Given the description of an element on the screen output the (x, y) to click on. 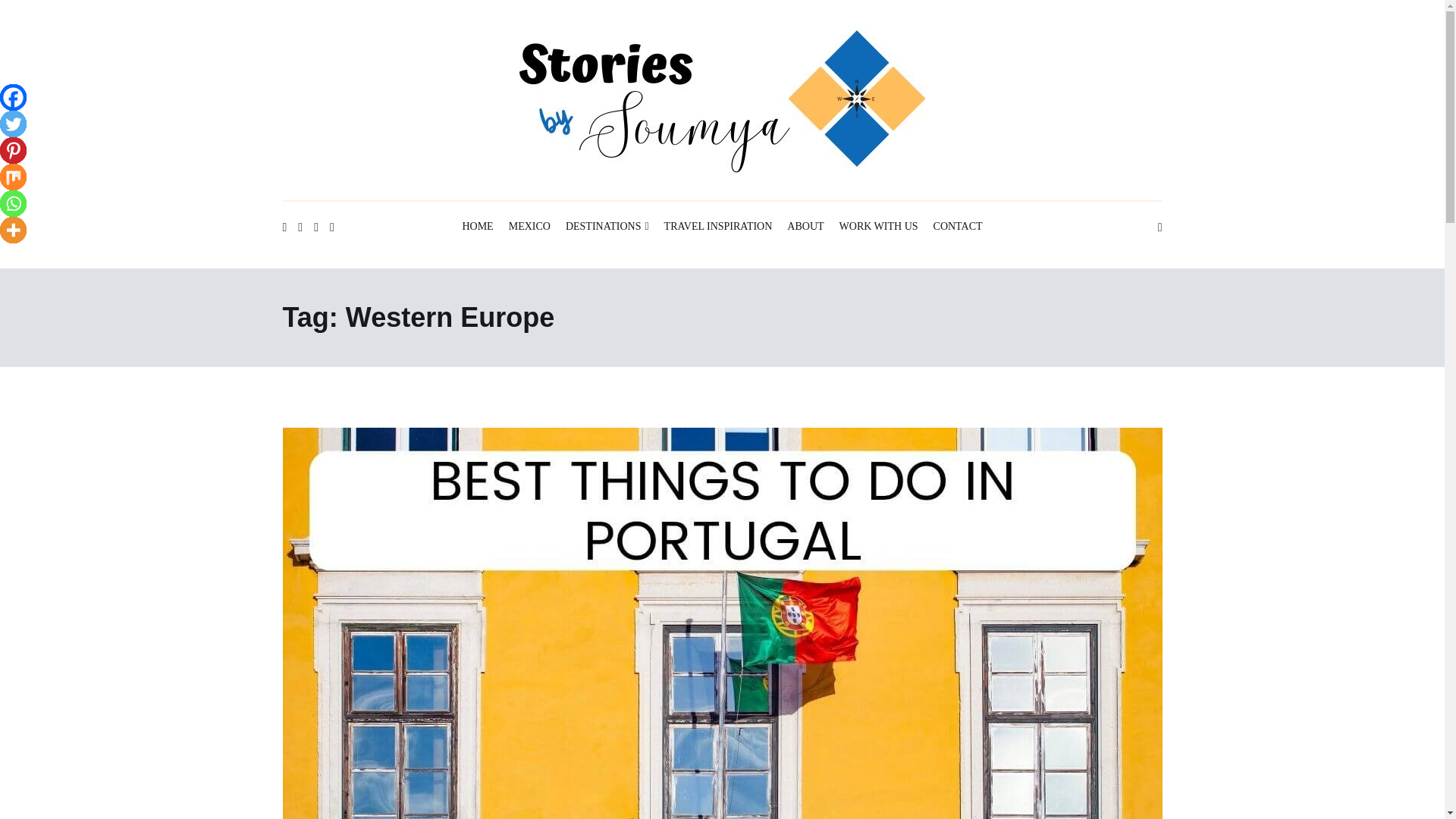
HOME (477, 227)
TRAVEL INSPIRATION (718, 227)
CONTACT (957, 227)
More (13, 230)
Facebook (13, 97)
Mix (13, 176)
Pinterest (13, 150)
Twitter (13, 123)
DESTINATIONS (607, 227)
WORK WITH US (879, 227)
Stories by Soumya (414, 213)
MEXICO (529, 227)
Whatsapp (13, 203)
ABOUT (805, 227)
